Given the description of an element on the screen output the (x, y) to click on. 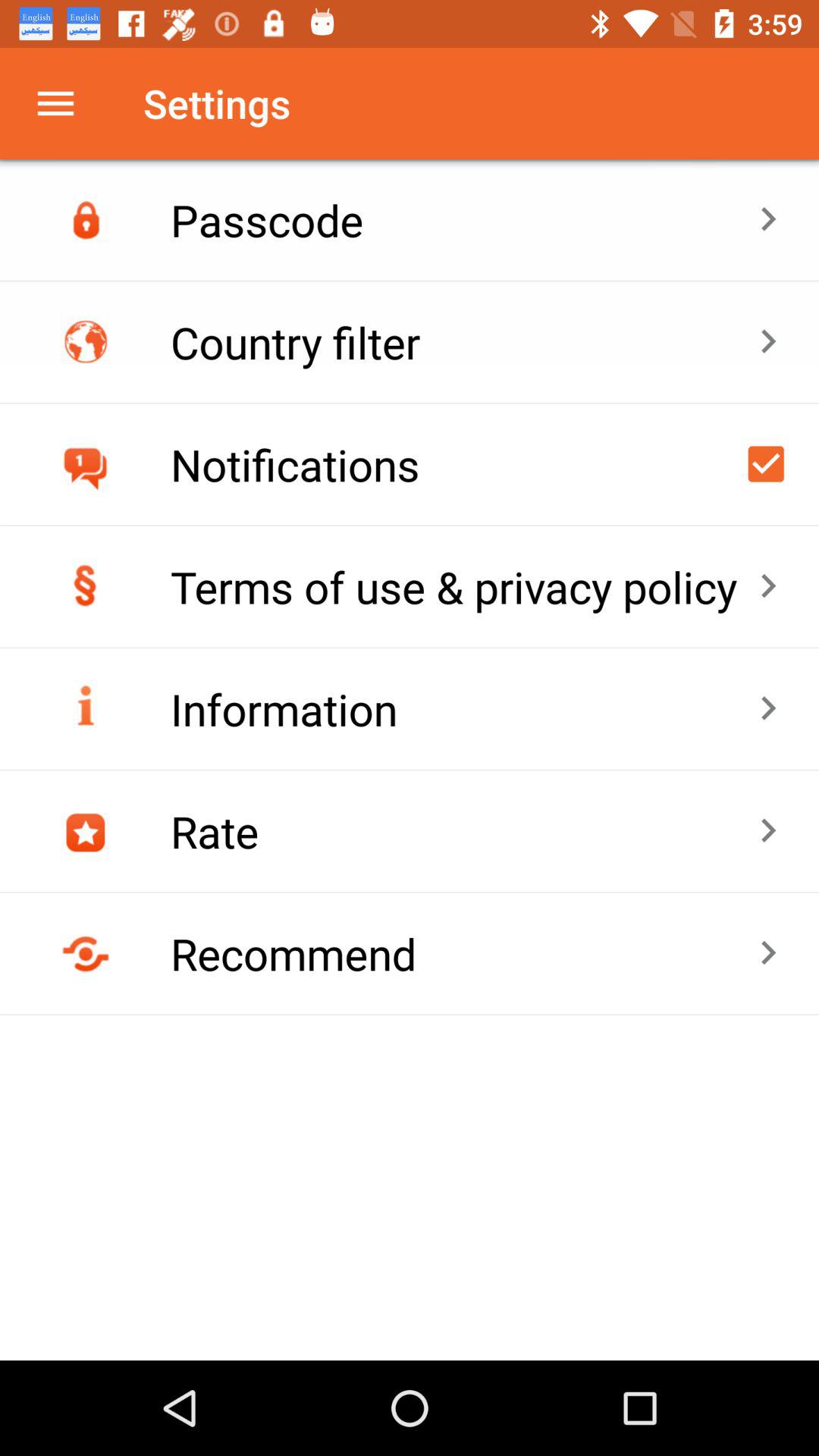
right click option (765, 463)
